Given the description of an element on the screen output the (x, y) to click on. 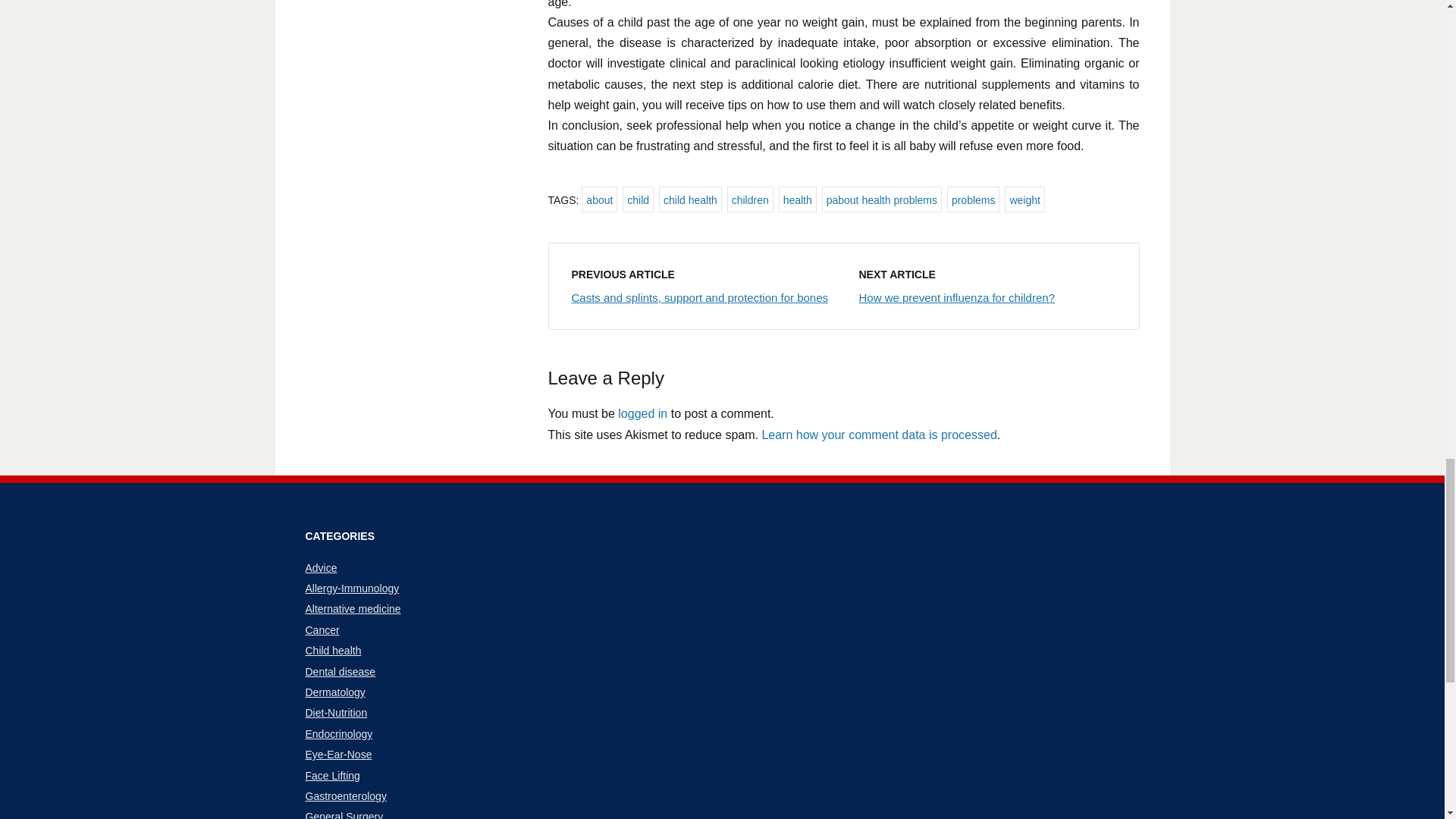
logged in (641, 413)
children (749, 199)
about (598, 199)
Learn how your comment data is processed (878, 433)
child health (690, 199)
problems (973, 199)
How we prevent influenza for children? (956, 297)
pabout health problems (882, 199)
weight (1023, 199)
health (797, 199)
child (638, 199)
Casts and splints, support and protection for bones (700, 297)
